Given the description of an element on the screen output the (x, y) to click on. 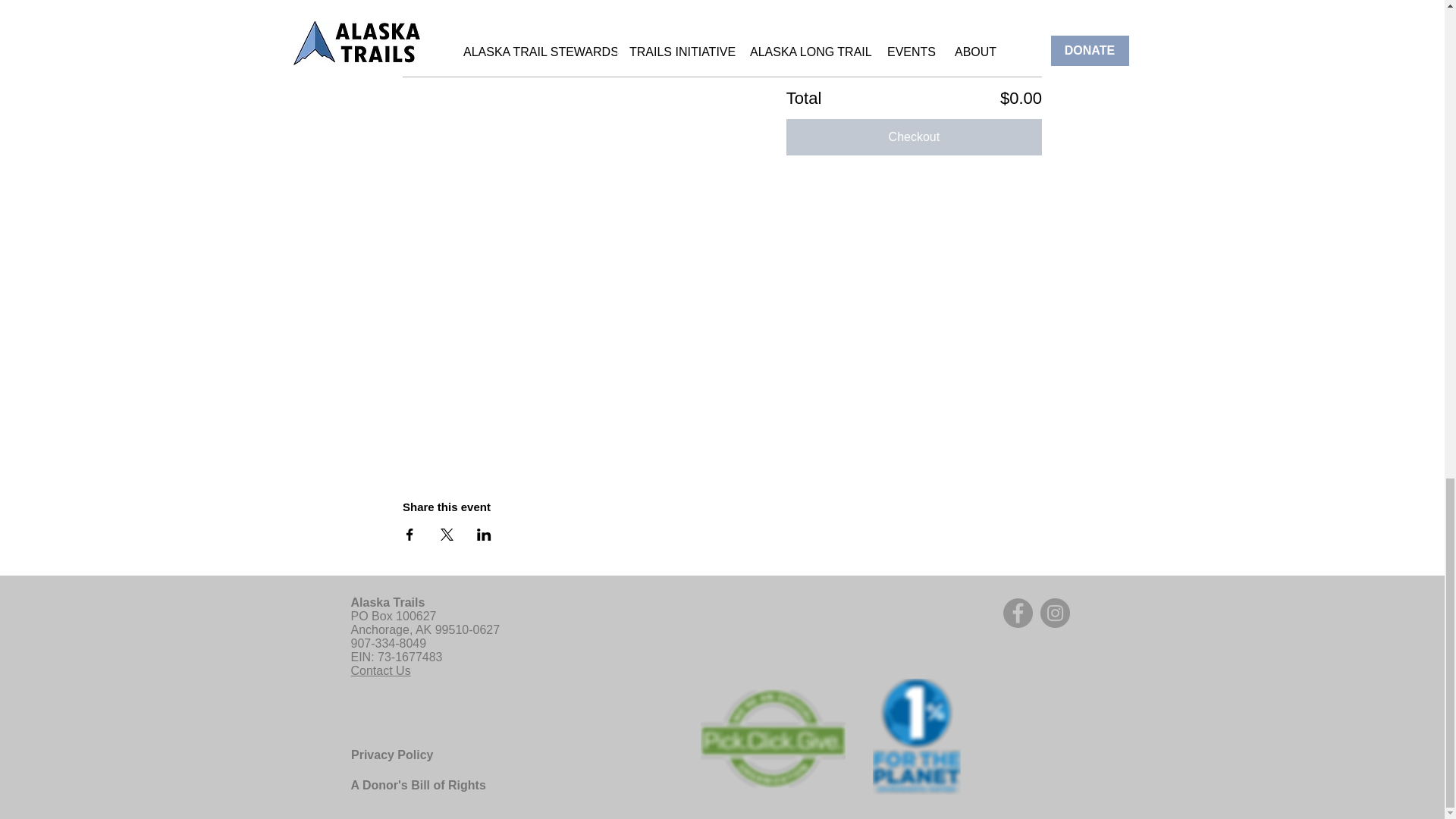
Checkout (914, 136)
Privacy Policy (391, 755)
Contact Us (380, 670)
